Given the description of an element on the screen output the (x, y) to click on. 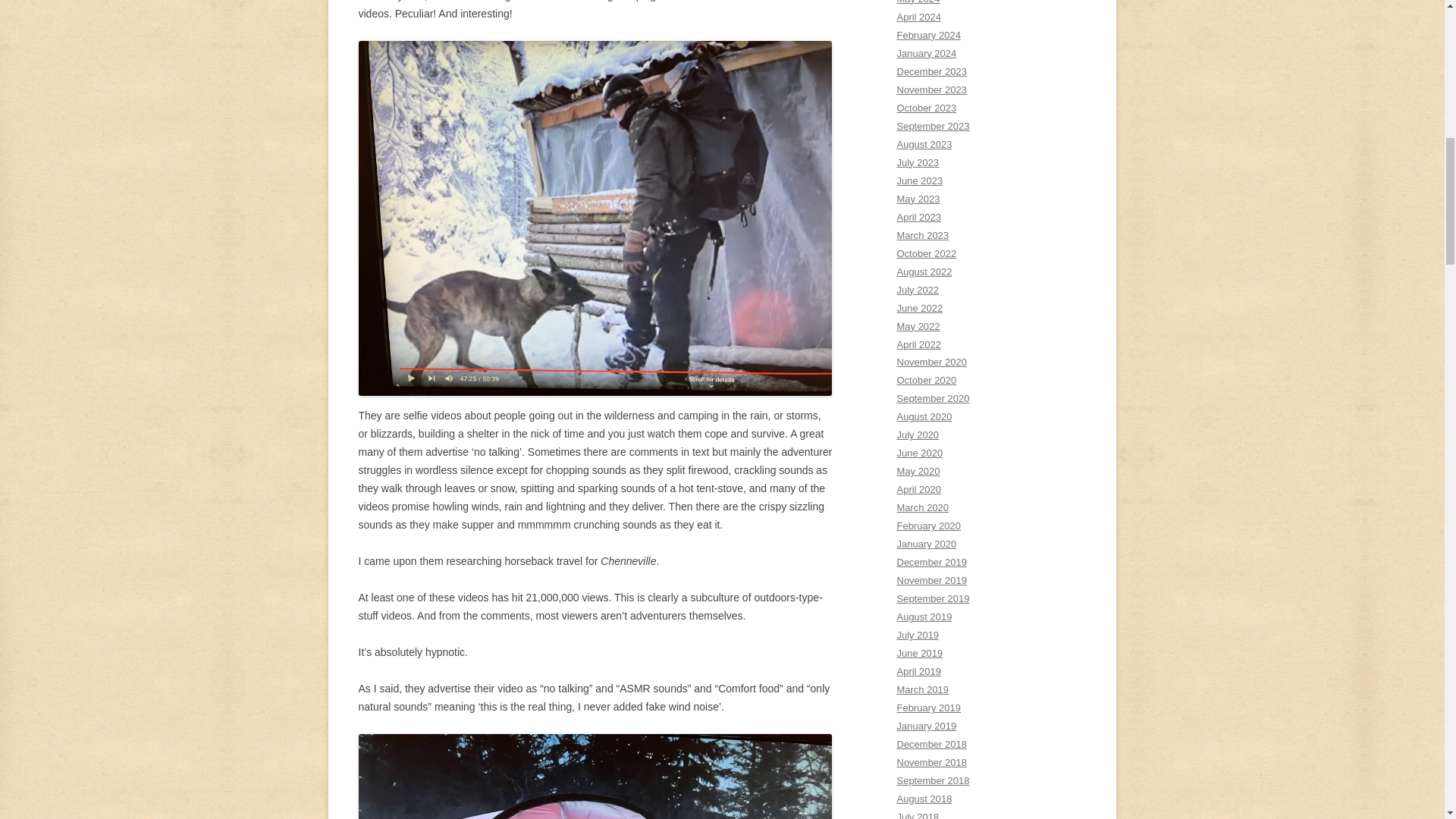
October 2023 (926, 107)
July 2023 (917, 162)
September 2023 (932, 125)
November 2023 (931, 89)
January 2024 (926, 52)
April 2024 (918, 16)
August 2023 (924, 143)
December 2023 (931, 71)
May 2024 (917, 2)
February 2024 (927, 34)
